Given the description of an element on the screen output the (x, y) to click on. 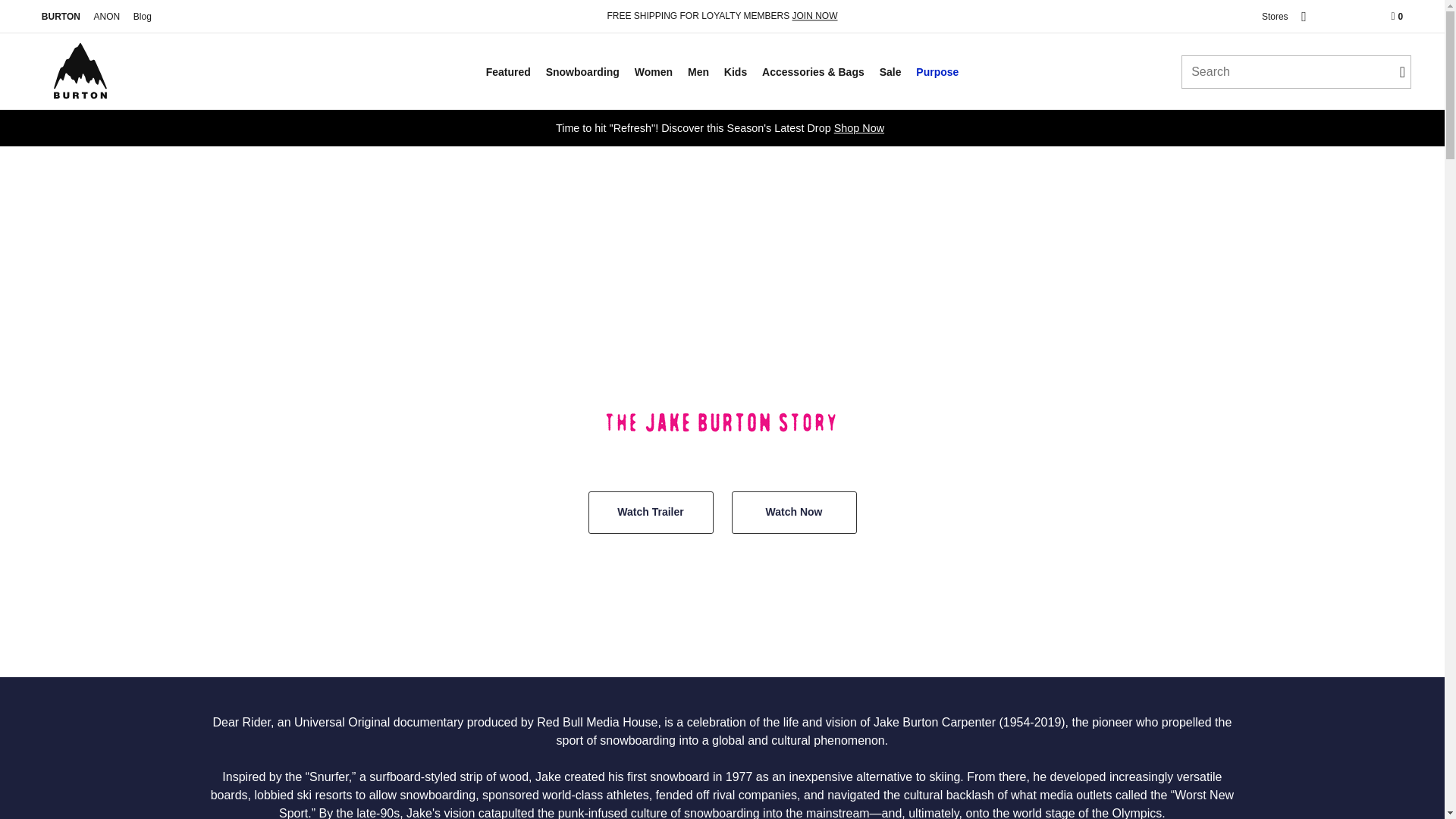
Snowboarding (584, 71)
Burton Snowboards Home (60, 16)
Stores (1274, 16)
BURTON (60, 16)
Burton Snowboards Home (79, 71)
ANON (106, 16)
Featured (510, 71)
Anon Home (106, 16)
